Given the description of an element on the screen output the (x, y) to click on. 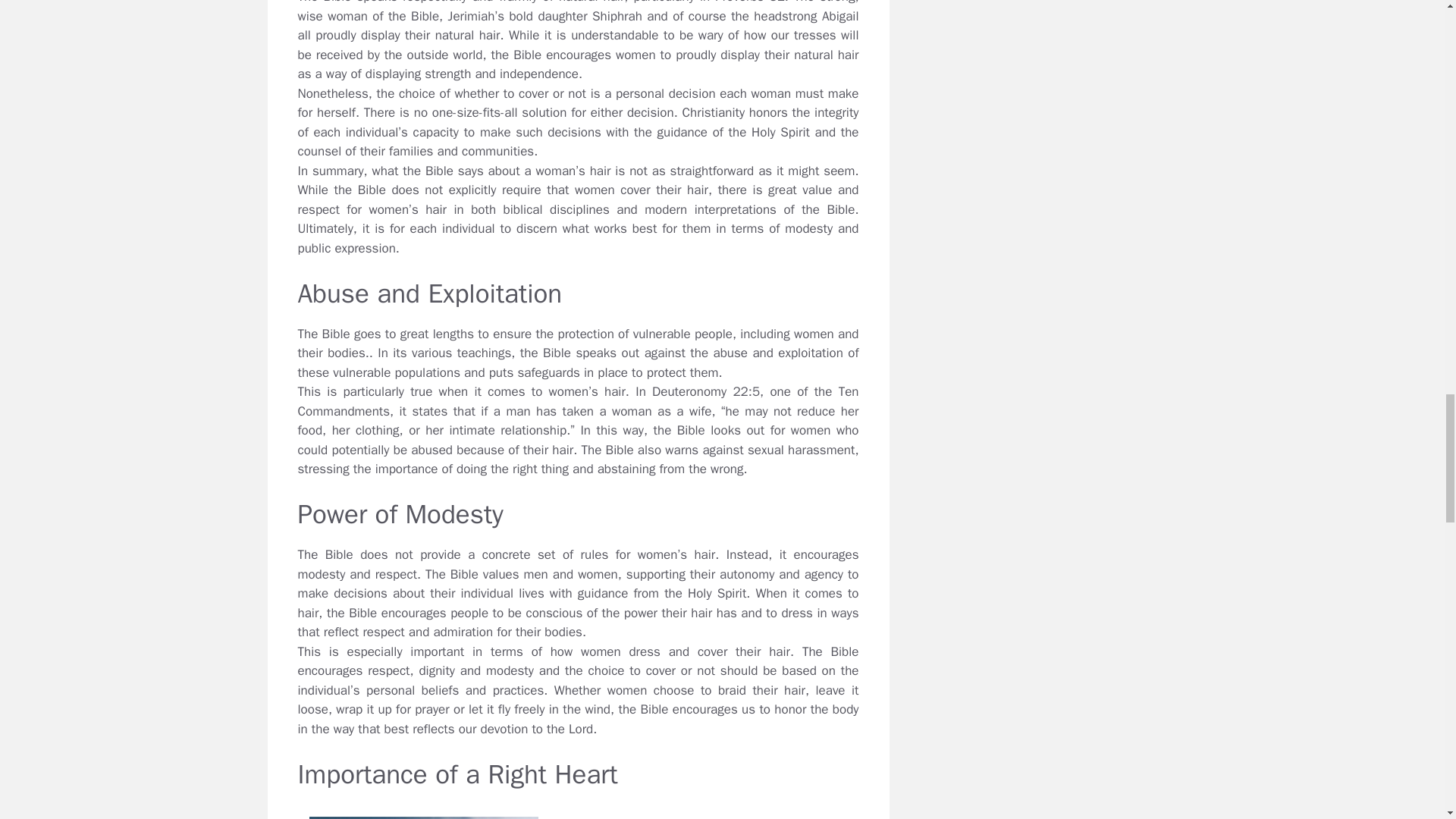
What Does The Bible Say About A Womans Hair (578, 812)
